Given the description of an element on the screen output the (x, y) to click on. 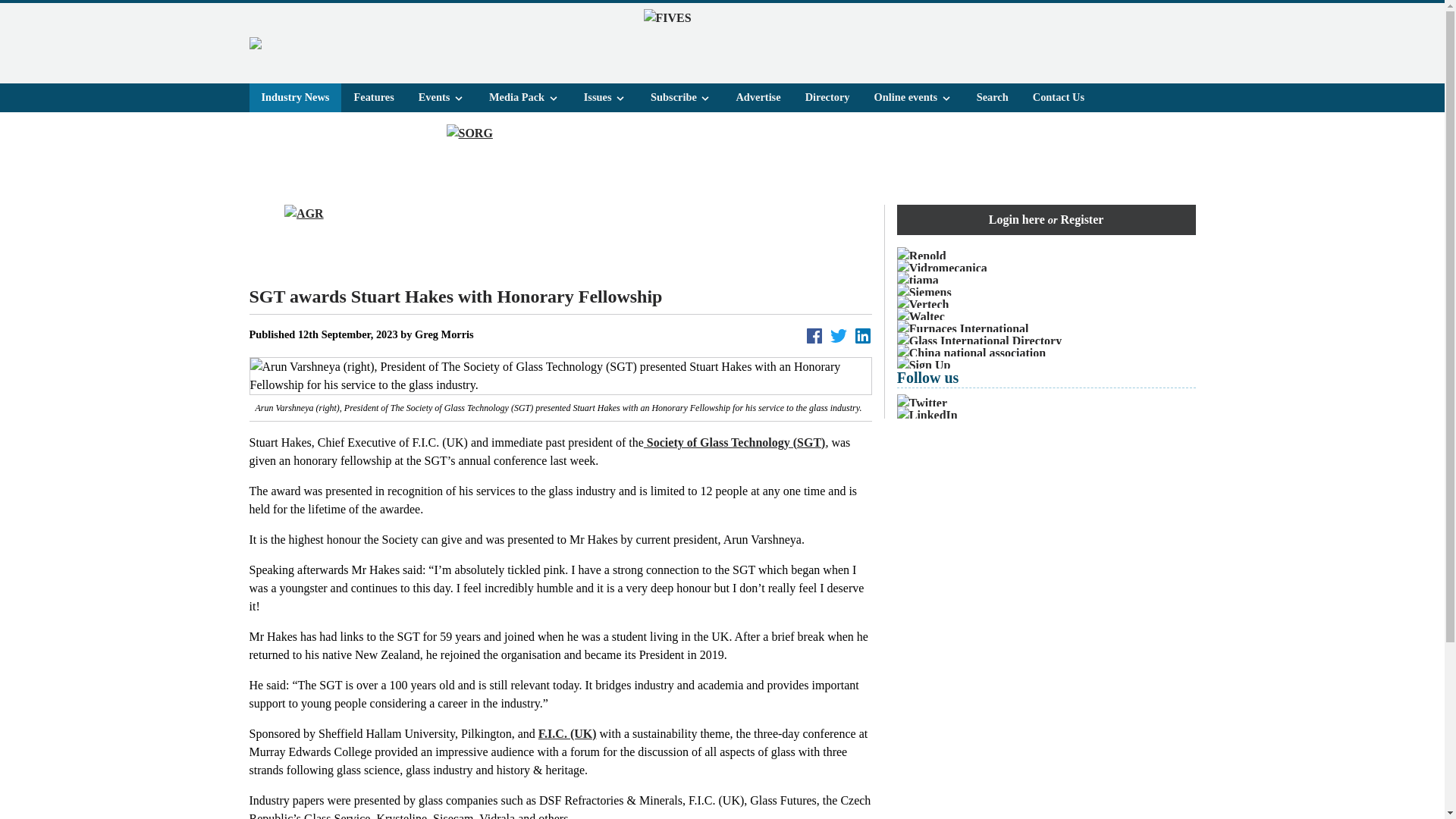
Search (991, 97)
Directory (827, 97)
Media Pack (524, 97)
tiama (1045, 280)
Features (373, 97)
Events (441, 97)
Subscribe (681, 97)
Renold (1045, 256)
Issues (605, 97)
Subscribe (680, 97)
